Given the description of an element on the screen output the (x, y) to click on. 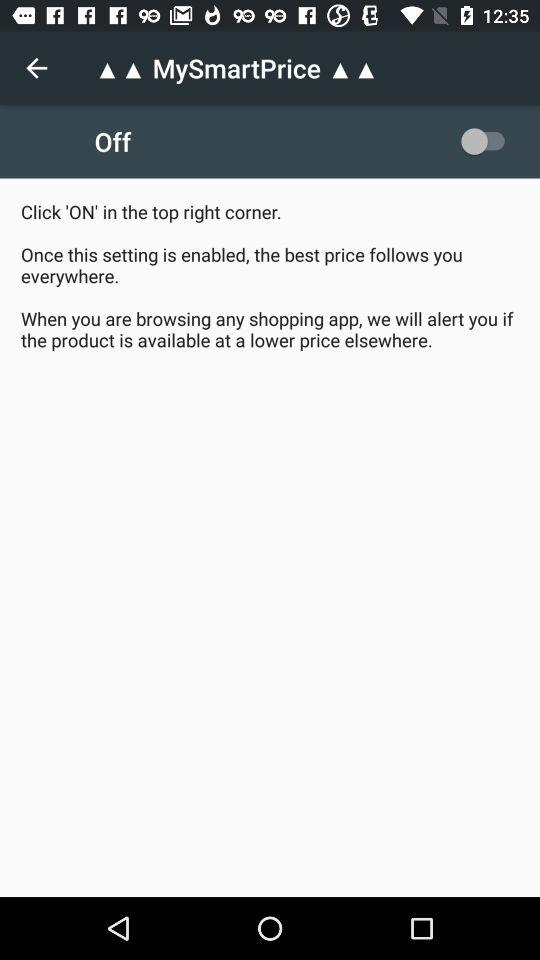
turn on click on in item (270, 275)
